Given the description of an element on the screen output the (x, y) to click on. 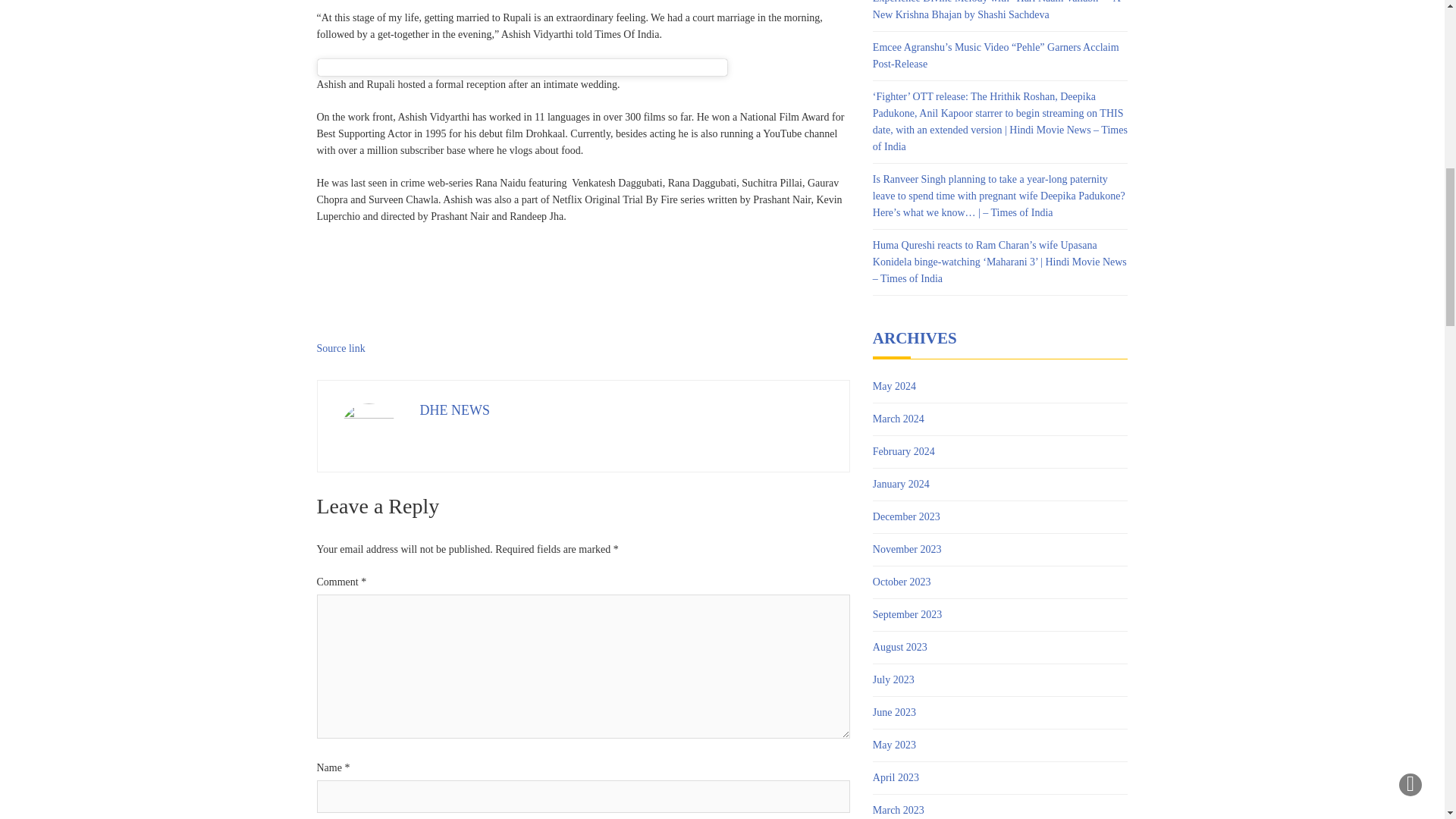
March 2024 (898, 419)
Source link (341, 348)
DHE NEWS (455, 409)
October 2023 (901, 582)
February 2024 (903, 451)
December 2023 (906, 516)
November 2023 (907, 549)
May 2024 (893, 386)
September 2023 (907, 614)
January 2024 (901, 484)
